Given the description of an element on the screen output the (x, y) to click on. 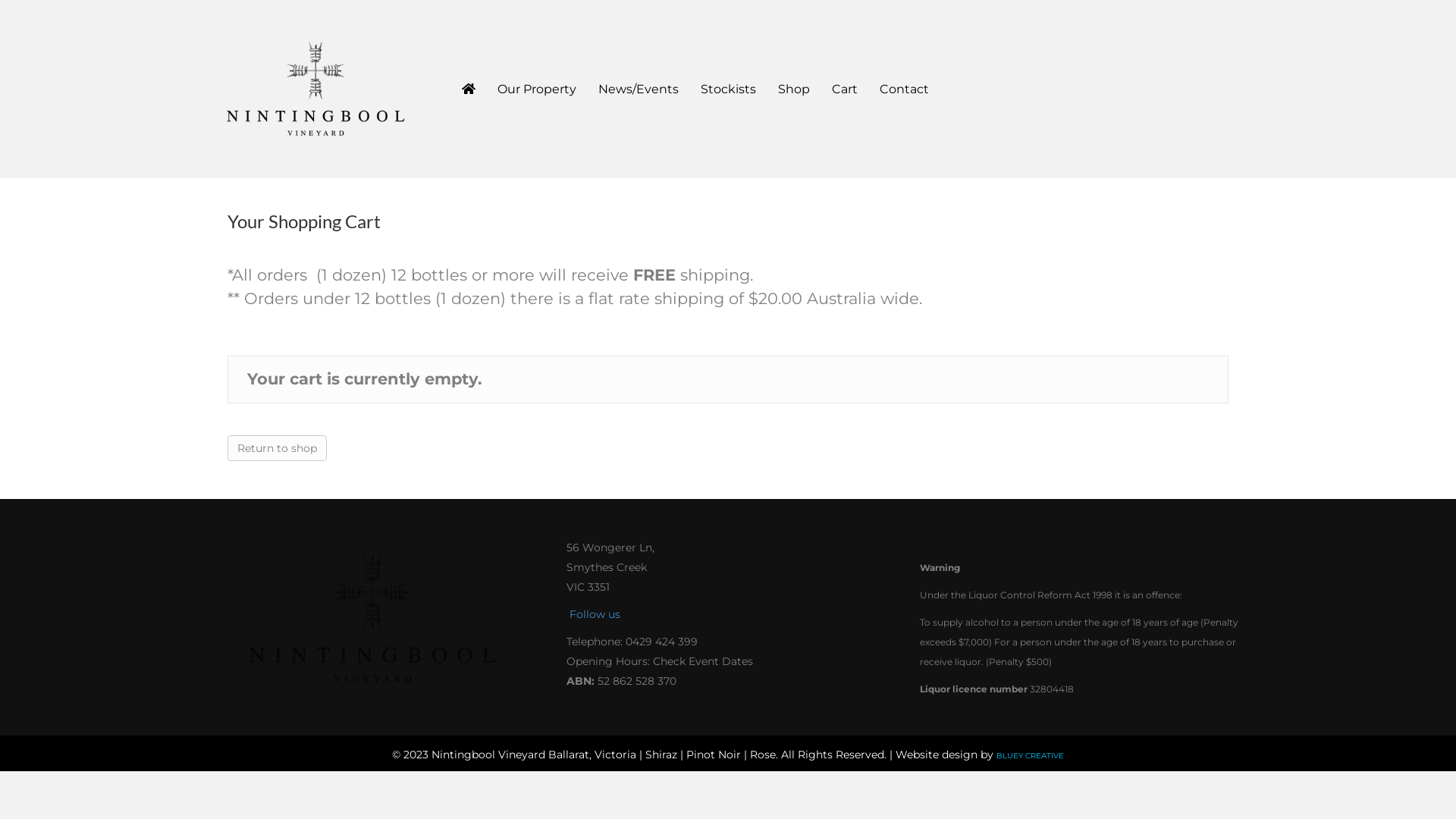
Cart Element type: text (844, 89)
Nintingbool_Winery_Logo Element type: hover (373, 616)
Stockists Element type: text (728, 89)
BLUEY CREATIVE Element type: text (1029, 755)
Contact Element type: text (904, 89)
 Follow us Element type: text (593, 614)
Shop Element type: text (793, 89)
Our Property Element type: text (536, 89)
Return to shop Element type: text (276, 448)
News/Events Element type: text (638, 89)
Nintingbool_Winery_Logo Element type: hover (316, 88)
